Given the description of an element on the screen output the (x, y) to click on. 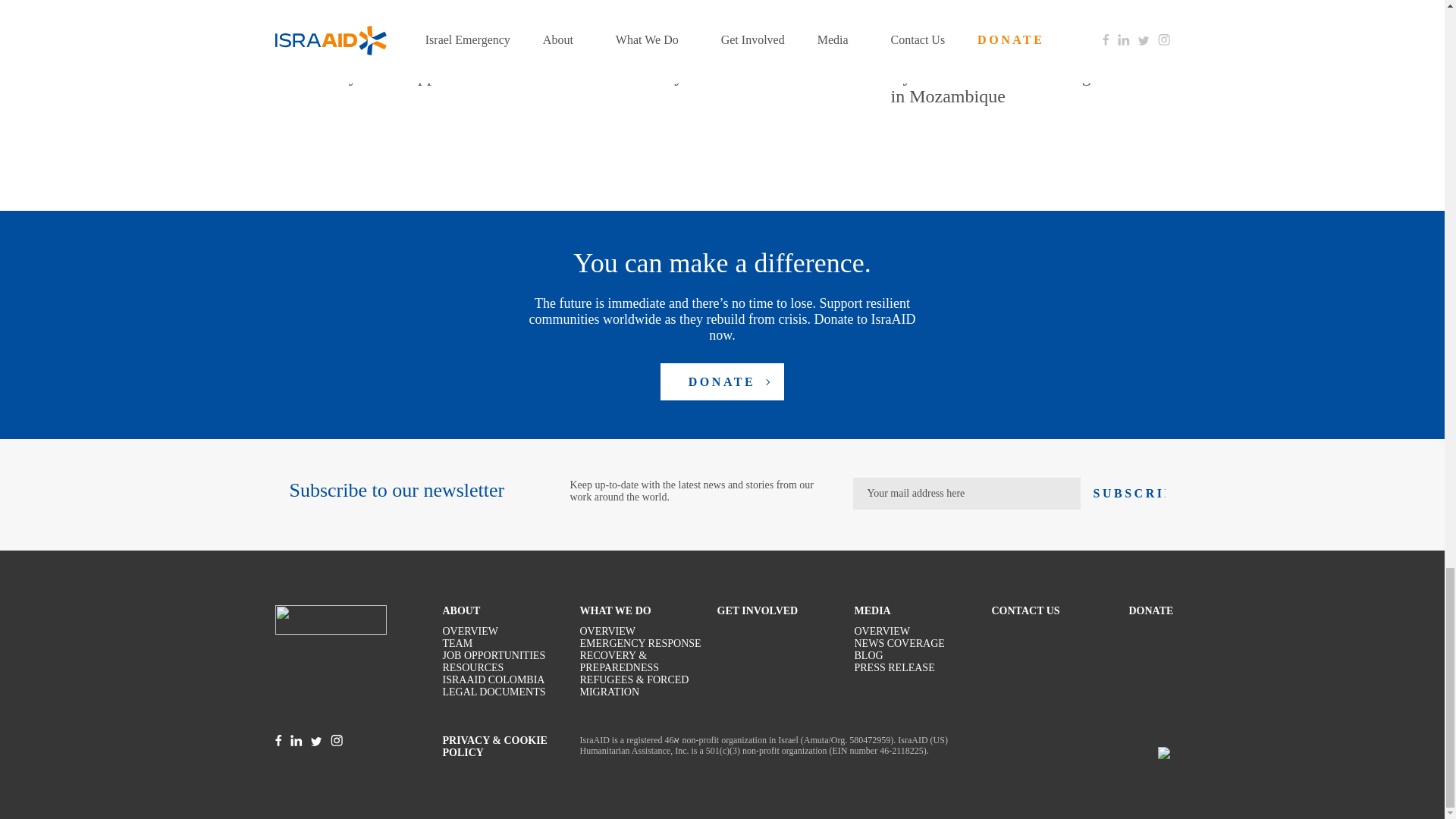
What makes IsraAID unique? Our community-based approach (399, 65)
SUBSCRIBE (1129, 493)
TEAM (457, 644)
OVERVIEW (470, 631)
SUBSCRIBE (1129, 493)
OVERVIEW (606, 631)
DONATE (721, 380)
JOB OPPORTUNITIES (494, 655)
EMERGENCY RESPONSE (639, 644)
ISRAAID COLOMBIA LEGAL DOCUMENTS (510, 686)
